Given the description of an element on the screen output the (x, y) to click on. 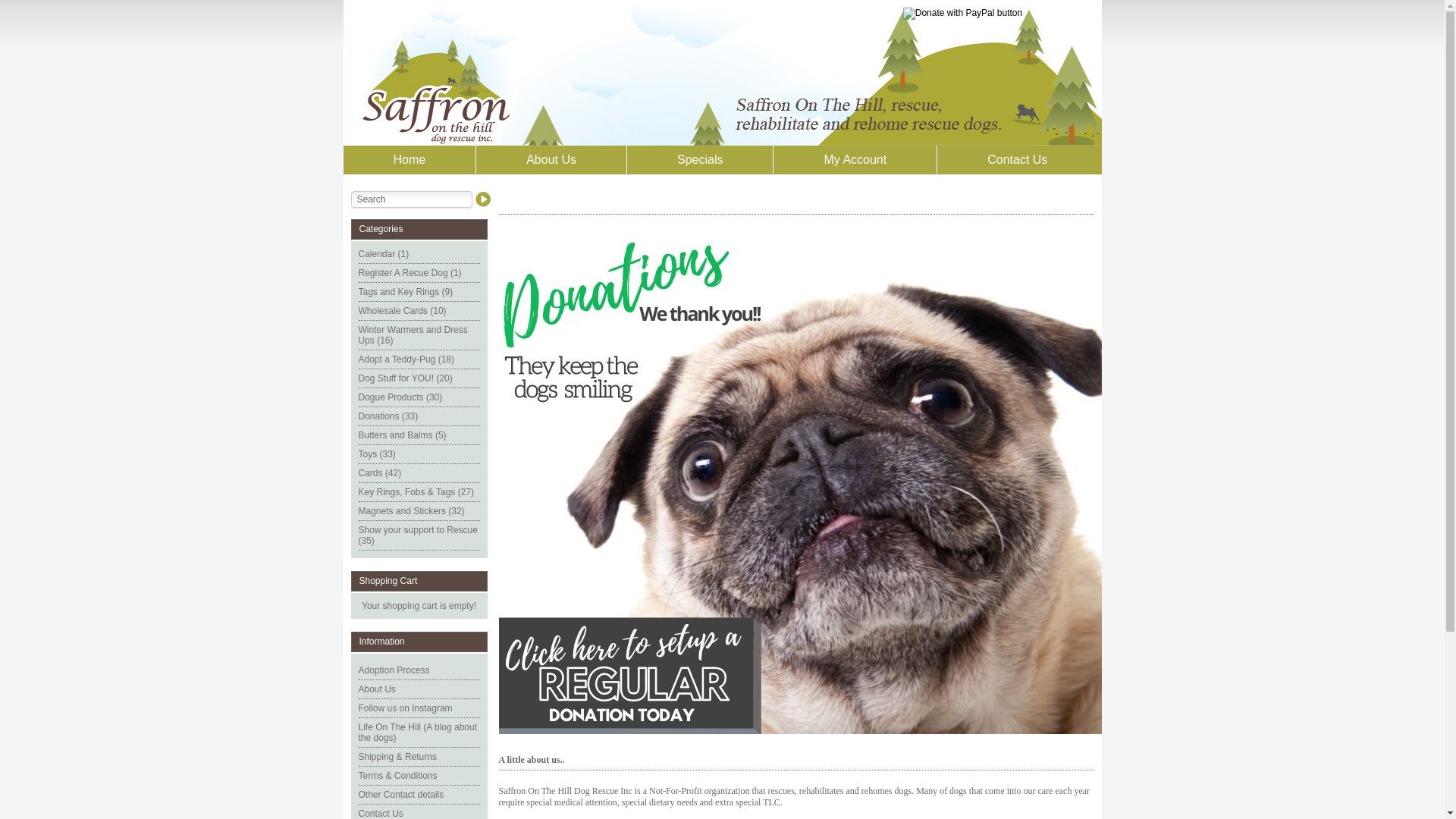
Register A Recue Dog (1) Element type: text (409, 272)
Butters and Balms (5) Element type: text (401, 434)
Contact Us Element type: text (1011, 159)
Life On The Hill (A blog about the dogs) Element type: text (416, 732)
About Us Element type: text (376, 689)
Winter Warmers and Dress Ups (16) Element type: text (412, 334)
Shipping & Returns Element type: text (396, 756)
Wholesale Cards (10) Element type: text (401, 310)
Adoption Process Element type: text (393, 670)
Calendar (1) Element type: text (382, 253)
About Us Element type: text (551, 159)
Tags and Key Rings (9) Element type: text (404, 291)
Home Element type: text (409, 159)
Specials Element type: text (700, 159)
Toys (33) Element type: text (376, 453)
Saffron On The Hill Element type: hover (721, 76)
PayPal - The safer, easier way to pay online! Element type: hover (962, 13)
My Account Element type: text (855, 159)
PayPal - The safer, easier way to pay online! Element type: hover (799, 481)
Dogue Products (30) Element type: text (399, 397)
Dog Stuff for YOU! (20) Element type: text (404, 378)
Terms & Conditions Element type: text (396, 775)
Cards (42) Element type: text (379, 472)
Follow us on Instagram Element type: text (404, 707)
Other Contact details Element type: text (400, 794)
Donations (33) Element type: text (387, 416)
Key Rings, Fobs & Tags (27) Element type: text (415, 491)
Magnets and Stickers (32) Element type: text (410, 510)
Show your support to Rescue (35) Element type: text (416, 535)
Adopt a Teddy-Pug (18) Element type: text (405, 359)
